Given the description of an element on the screen output the (x, y) to click on. 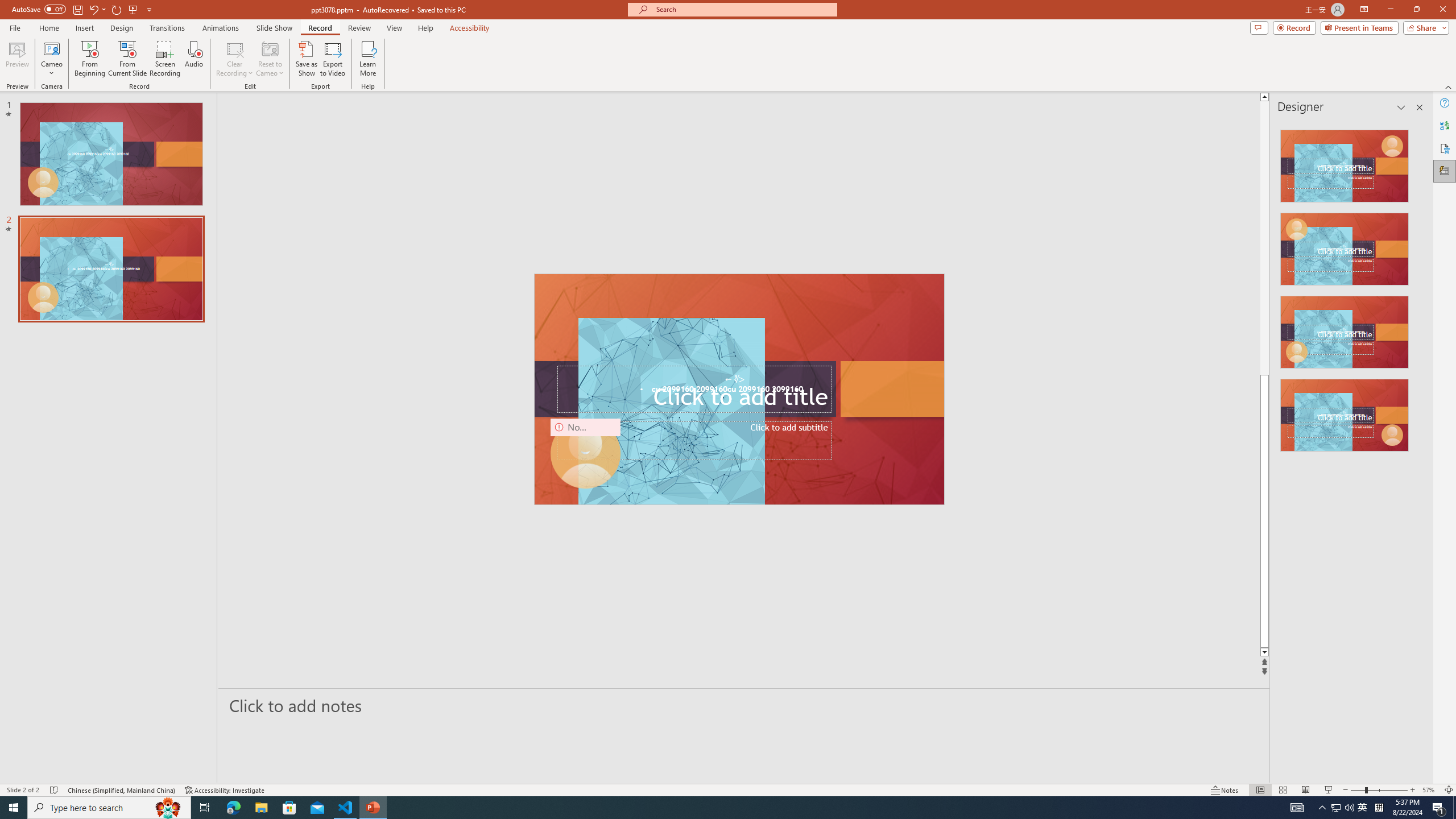
TextBox 7 (734, 379)
An abstract genetic concept (738, 389)
